Given the description of an element on the screen output the (x, y) to click on. 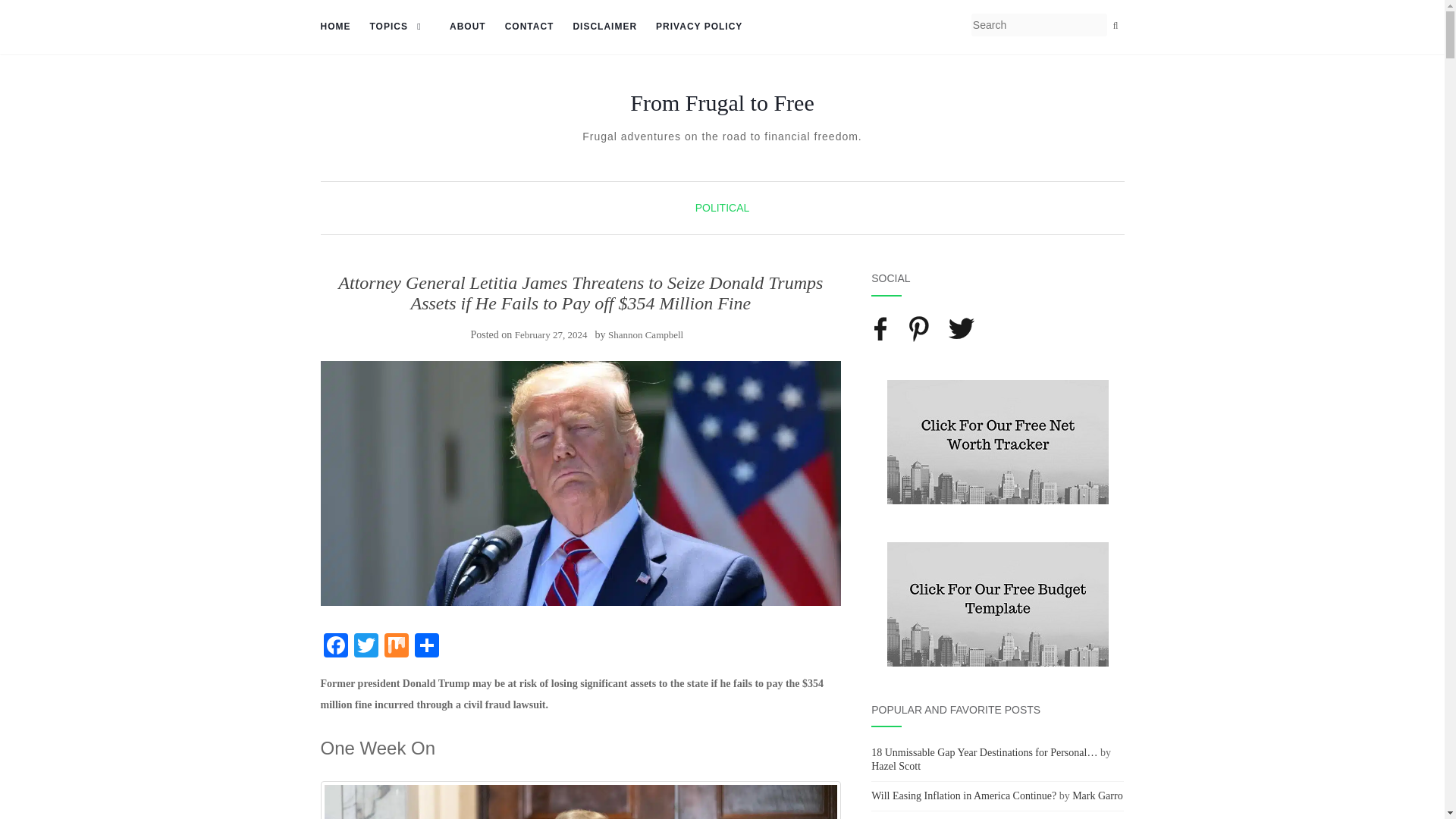
Disclaimer (604, 27)
Twitter (365, 646)
Facebook (335, 646)
Privacy Policy (699, 27)
Shannon Campbell (645, 334)
From Frugal to Free (721, 102)
Twitter (365, 646)
POLITICAL (722, 207)
DISCLAIMER (604, 27)
February 27, 2024 (551, 334)
